Given the description of an element on the screen output the (x, y) to click on. 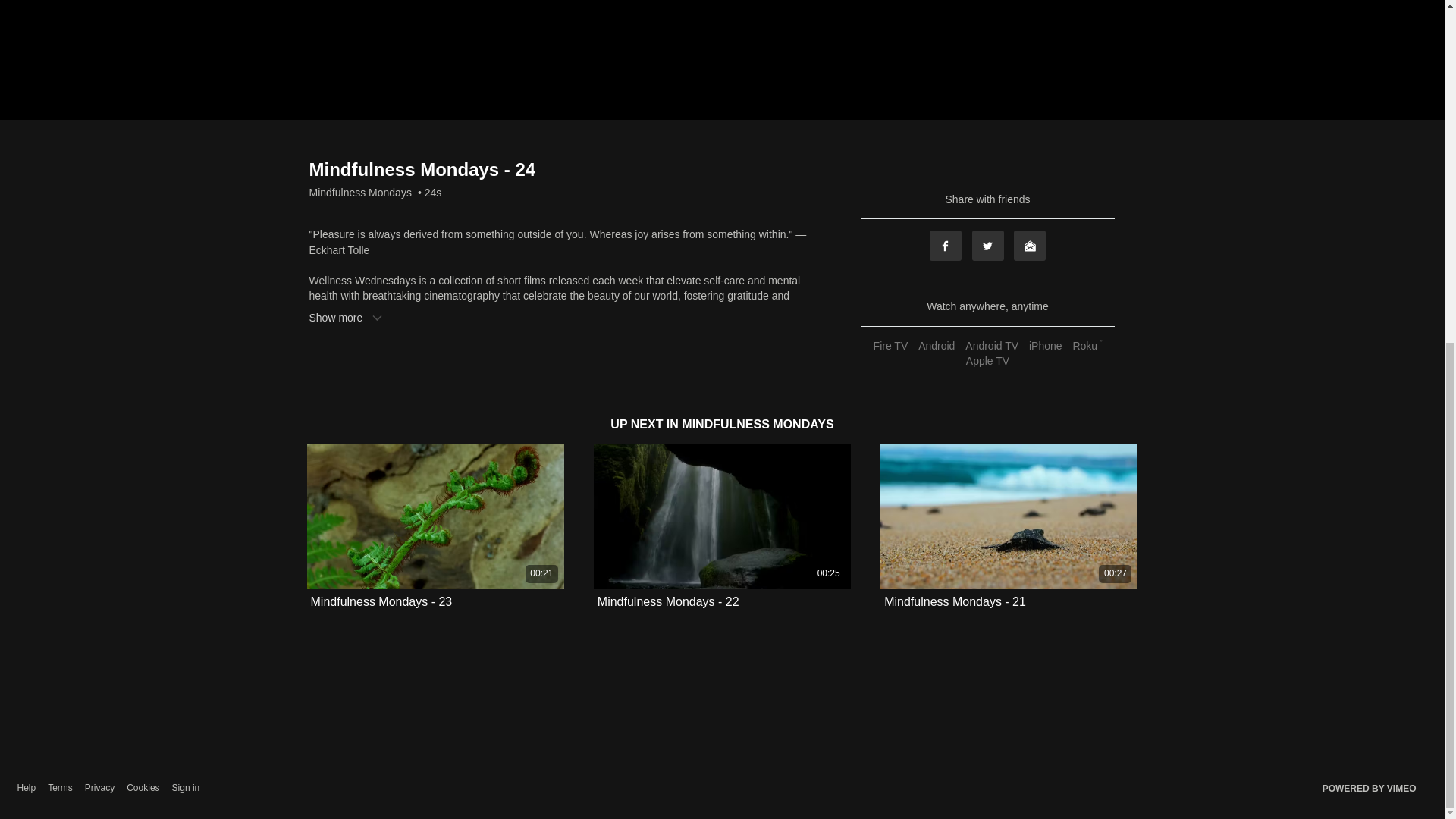
Fire TV (890, 345)
Mindfulness Mondays - 21 (954, 602)
MINDFULNESS MONDAYS (756, 423)
Twitter (988, 245)
iPhone (1045, 345)
Help (25, 788)
Mindfulness Mondays - 22 (667, 602)
Mindfulness Mondays - 23 (381, 601)
Sign in (185, 788)
Android TV (991, 345)
Cookies (142, 788)
00:25 (722, 516)
Mindfulness Mondays (360, 192)
Facebook (945, 245)
Privacy (99, 788)
